Given the description of an element on the screen output the (x, y) to click on. 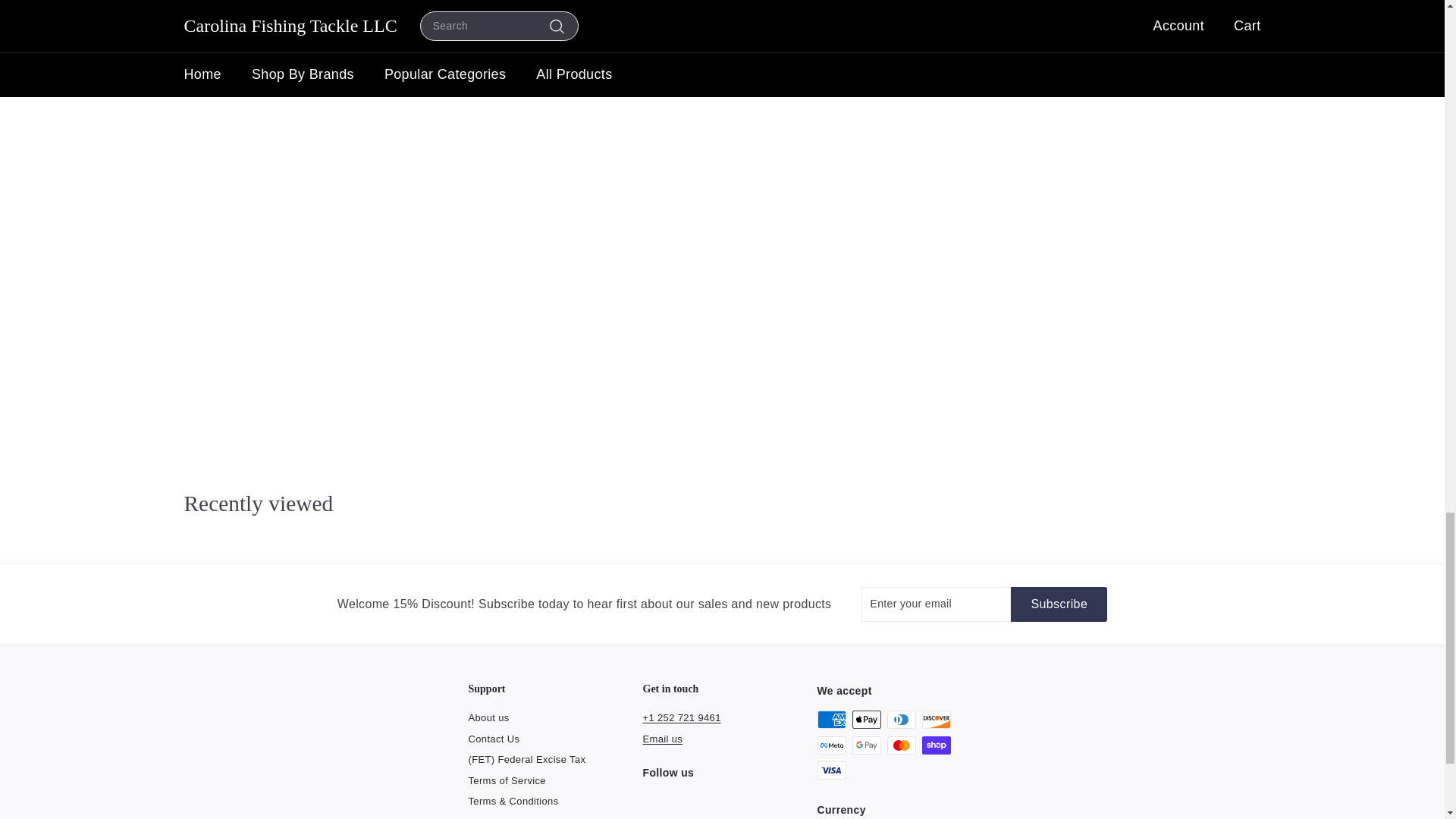
Diners Club (900, 719)
Google Pay (865, 745)
Shop Pay (935, 745)
Visa (830, 770)
Discover (935, 719)
Meta Pay (830, 745)
Mastercard (900, 745)
Apple Pay (865, 719)
American Express (830, 719)
